Given the description of an element on the screen output the (x, y) to click on. 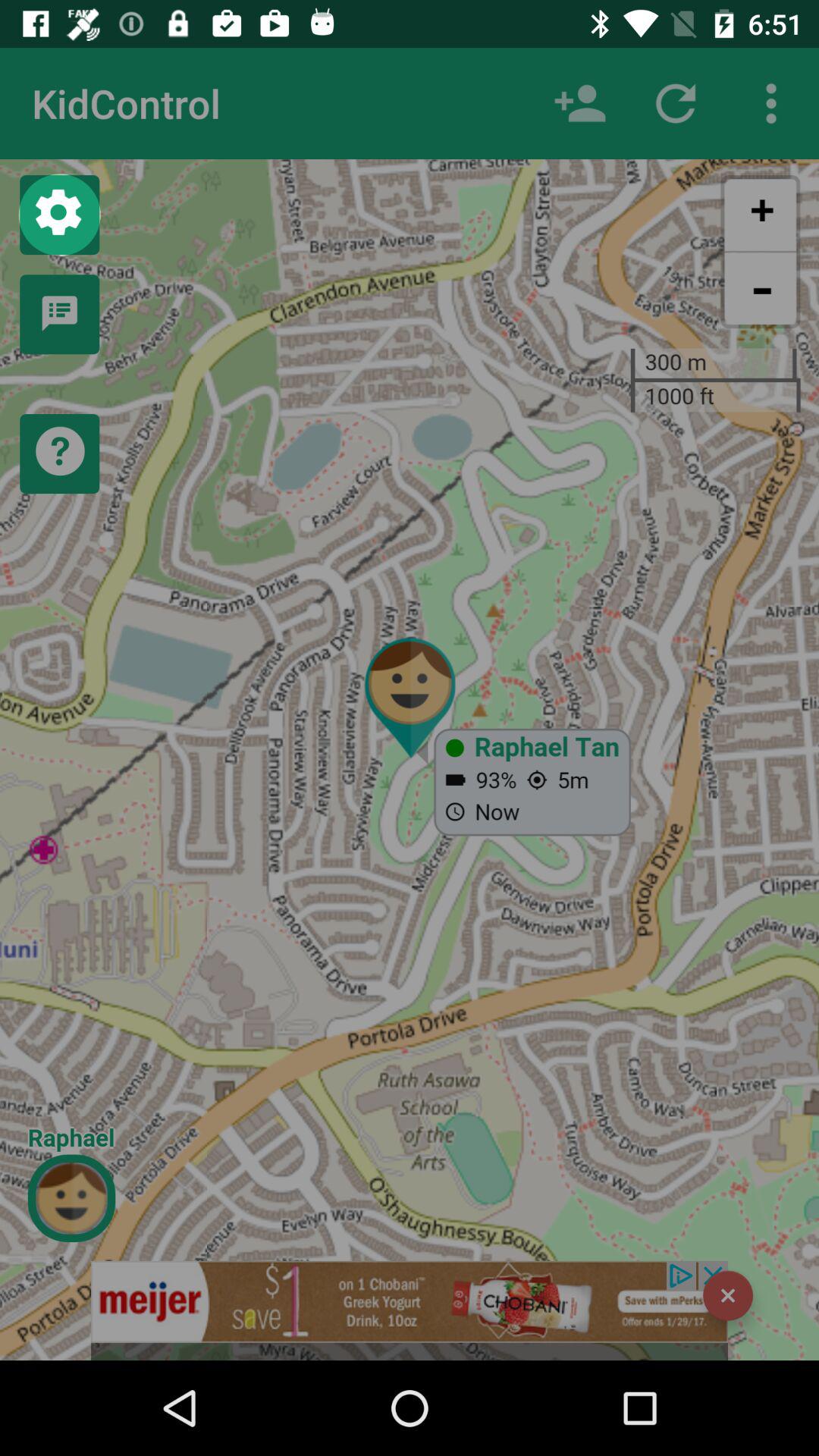
this is a kidcountrol map (409, 1310)
